Given the description of an element on the screen output the (x, y) to click on. 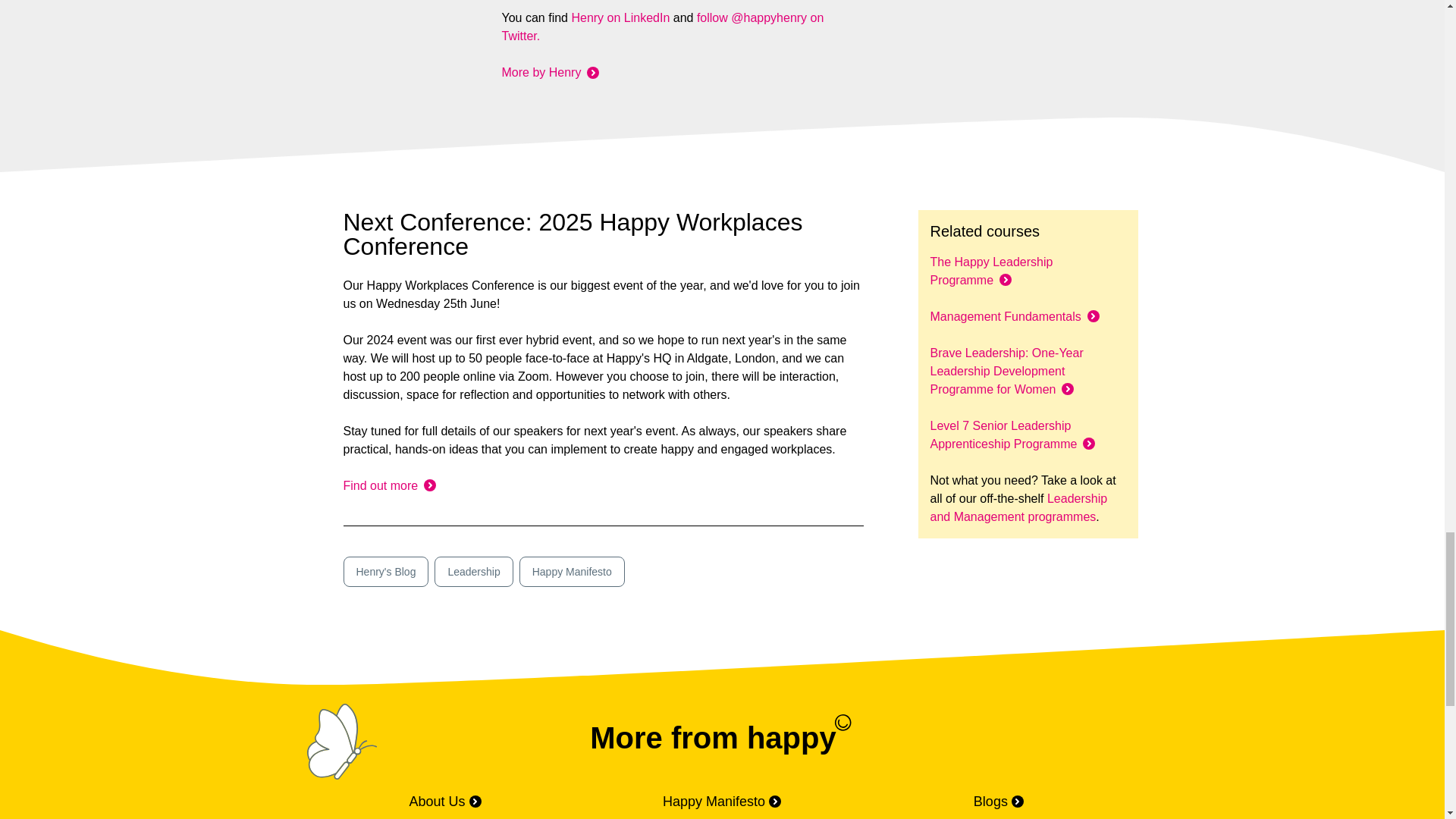
Brave Leadership (1006, 370)
2025 Happy Workplaces Conference (388, 485)
Happy Leadership Programme (991, 270)
Management Fundamentals (1005, 316)
Leadership and Management Programmes (1018, 507)
Level 7 Senior Leaders Programme (1003, 434)
